Given the description of an element on the screen output the (x, y) to click on. 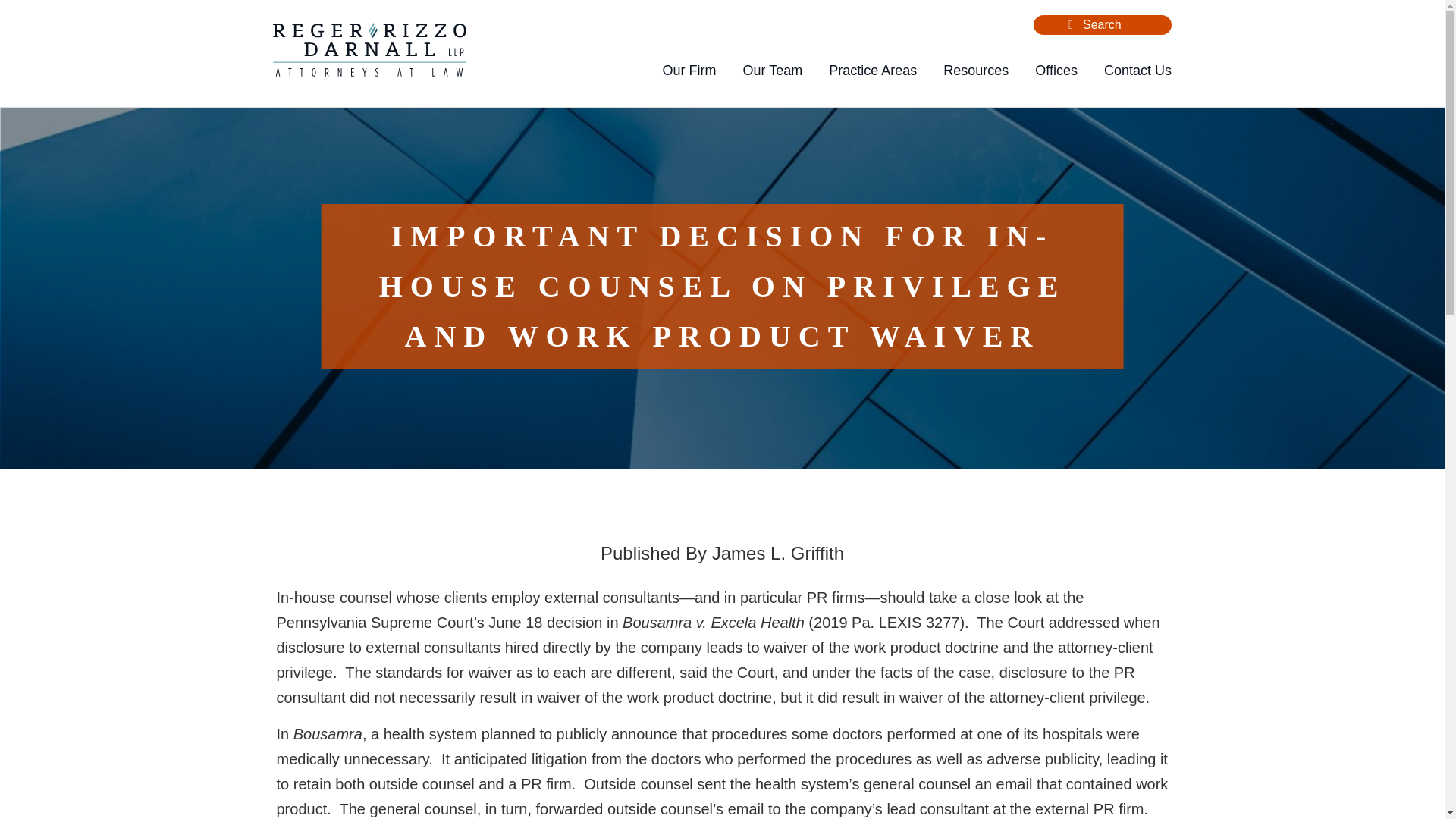
James L. Griffith (777, 552)
Offices (1056, 71)
Practice Areas (872, 71)
Resources (976, 71)
Contact Us (1137, 71)
Search (1070, 24)
Our Firm (689, 71)
Our Team (772, 71)
